Given the description of an element on the screen output the (x, y) to click on. 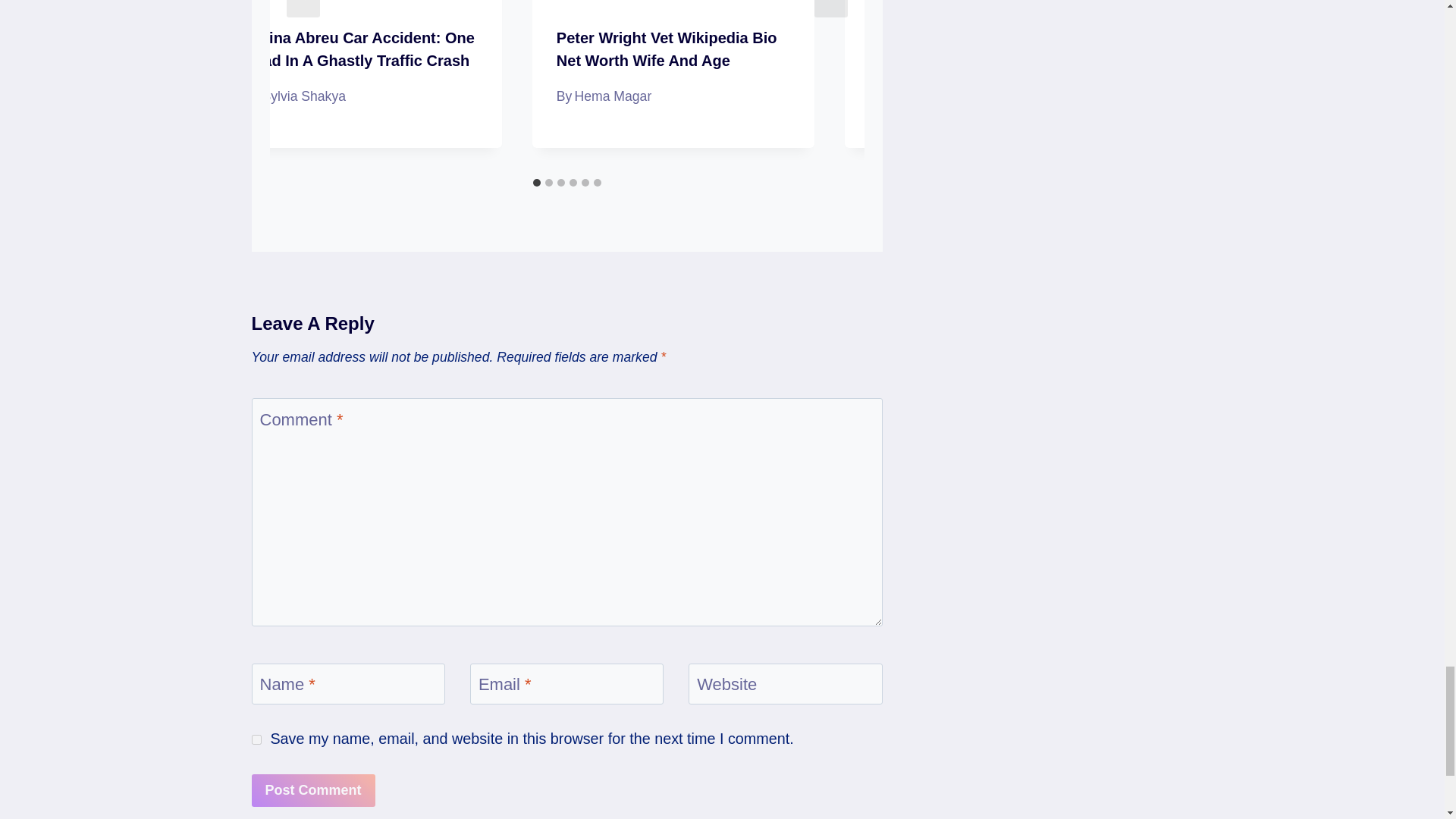
Post Comment (313, 789)
yes (256, 739)
